Given the description of an element on the screen output the (x, y) to click on. 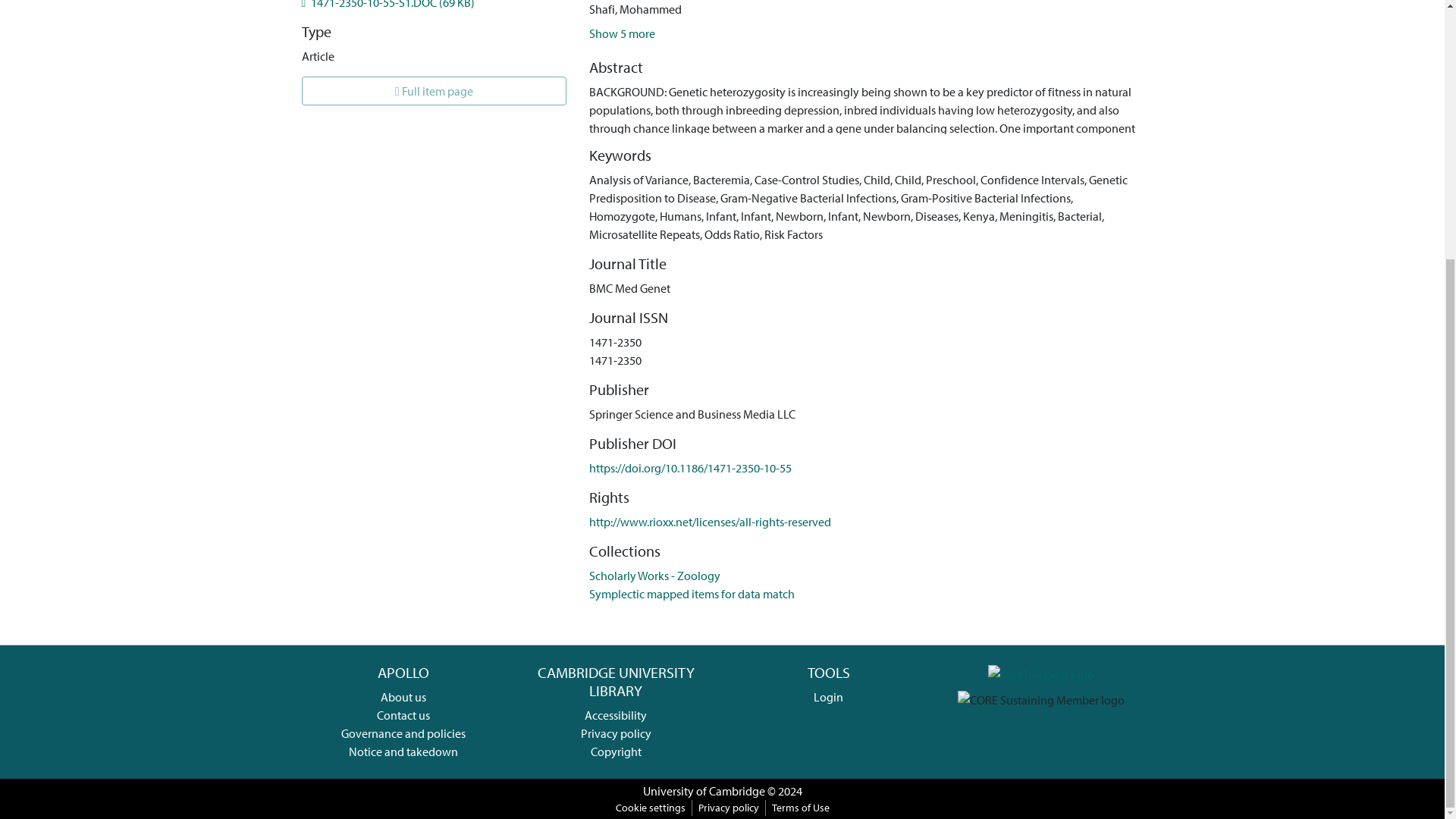
Symplectic mapped items for data match (691, 593)
About us (403, 696)
Apollo CTS full application (1041, 672)
Show 5 more (622, 32)
Scholarly Works - Zoology (654, 575)
Full item page (434, 90)
Notice and takedown (403, 751)
Contact us (403, 714)
Governance and policies (402, 733)
